Given the description of an element on the screen output the (x, y) to click on. 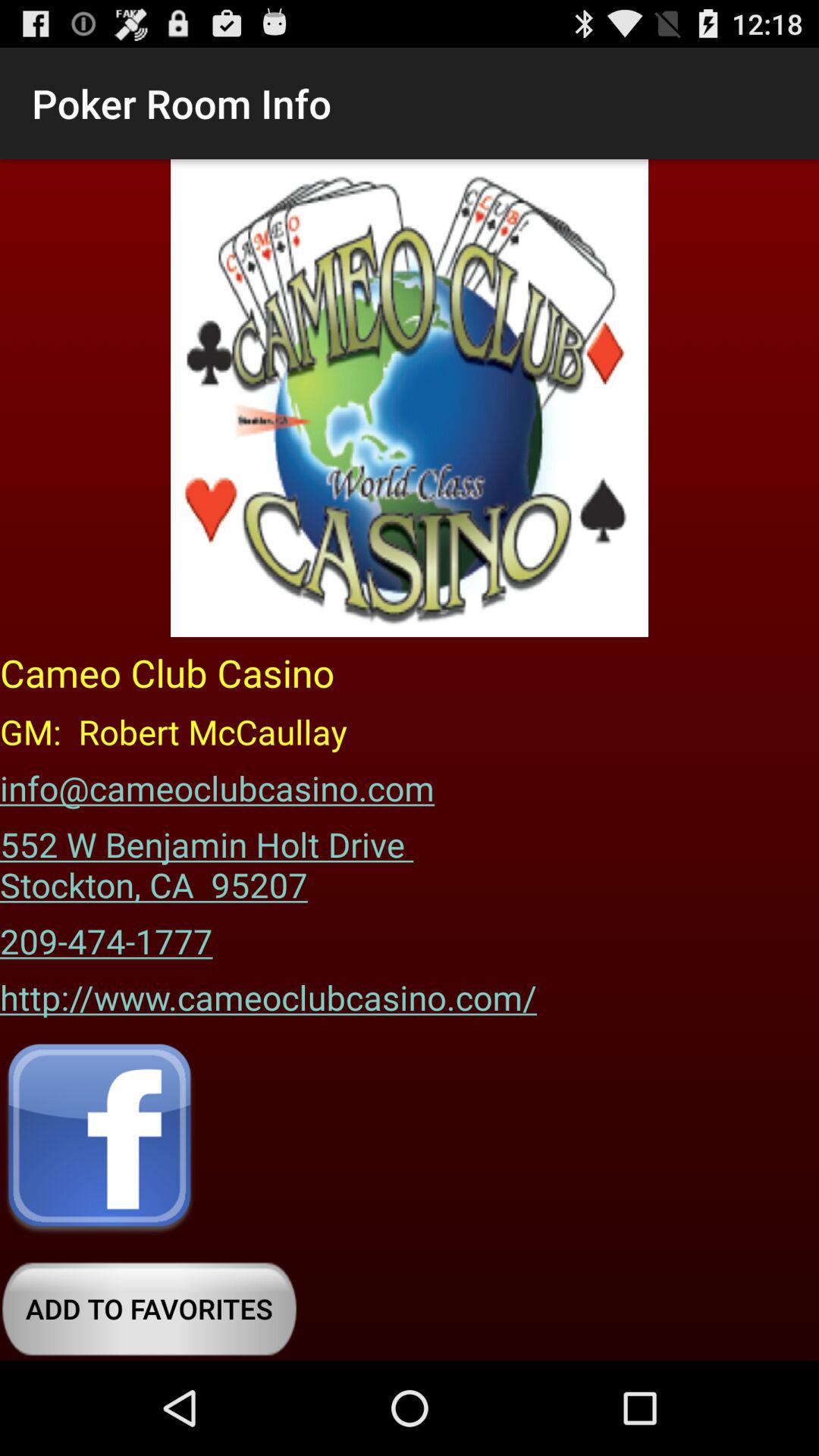
scroll to the 209-474-1777 item (106, 935)
